Given the description of an element on the screen output the (x, y) to click on. 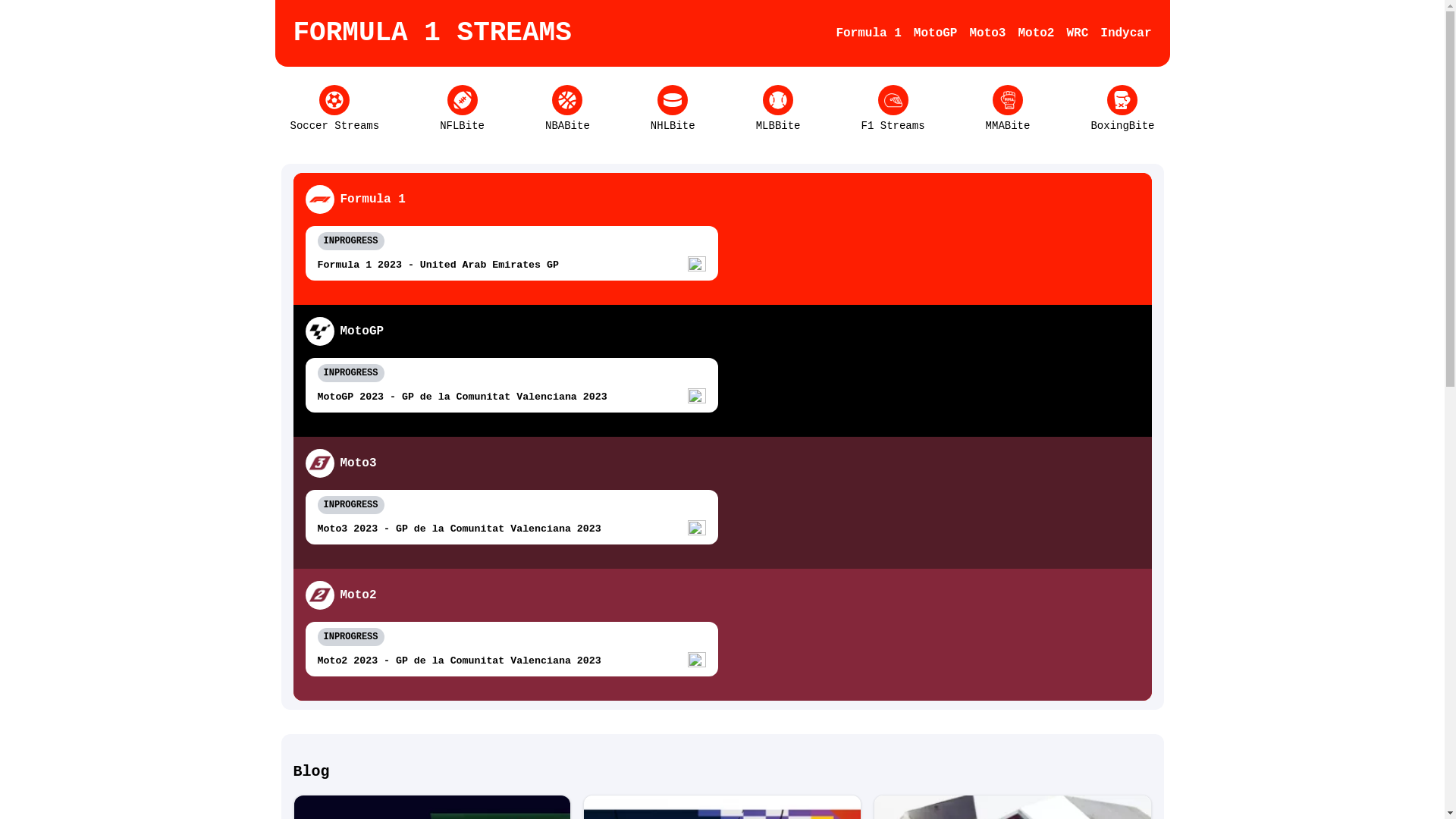
BoxingBite Element type: text (1122, 108)
Formula 1 Element type: text (867, 33)
Moto3 Element type: text (987, 33)
INPROGRESS
MotoGP 2023 - GP de la Comunitat Valenciana 2023 Element type: text (510, 384)
INPROGRESS
Moto2 2023 - GP de la Comunitat Valenciana 2023 Element type: text (510, 648)
INPROGRESS
Moto3 2023 - GP de la Comunitat Valenciana 2023 Element type: text (510, 516)
WRC Element type: text (1077, 33)
NHLBite Element type: text (672, 108)
Blog Element type: text (721, 771)
MLBBite Element type: text (777, 108)
FORMULA 1 STREAMS Element type: text (431, 33)
Moto2 Element type: text (1035, 33)
INPROGRESS
Formula 1 2023 - United Arab Emirates GP Element type: text (510, 252)
MotoGP Element type: text (935, 33)
F1 Streams Element type: text (893, 108)
Soccer Streams Element type: text (334, 108)
NBABite Element type: text (567, 108)
NFLBite Element type: text (461, 108)
Indycar Element type: text (1125, 33)
MMABite Element type: text (1007, 108)
